Given the description of an element on the screen output the (x, y) to click on. 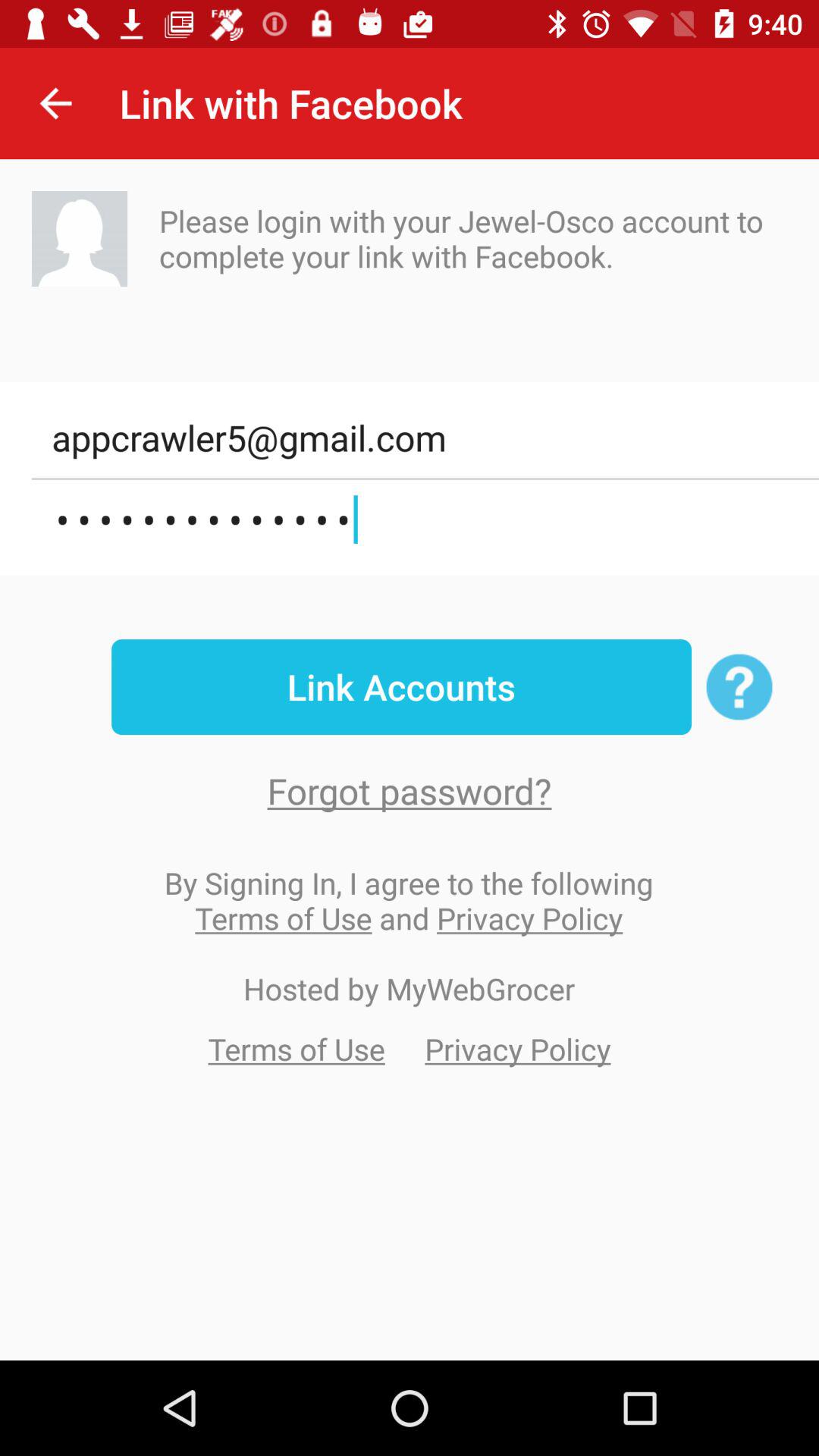
press the item above hosted by mywebgrocer item (408, 900)
